Given the description of an element on the screen output the (x, y) to click on. 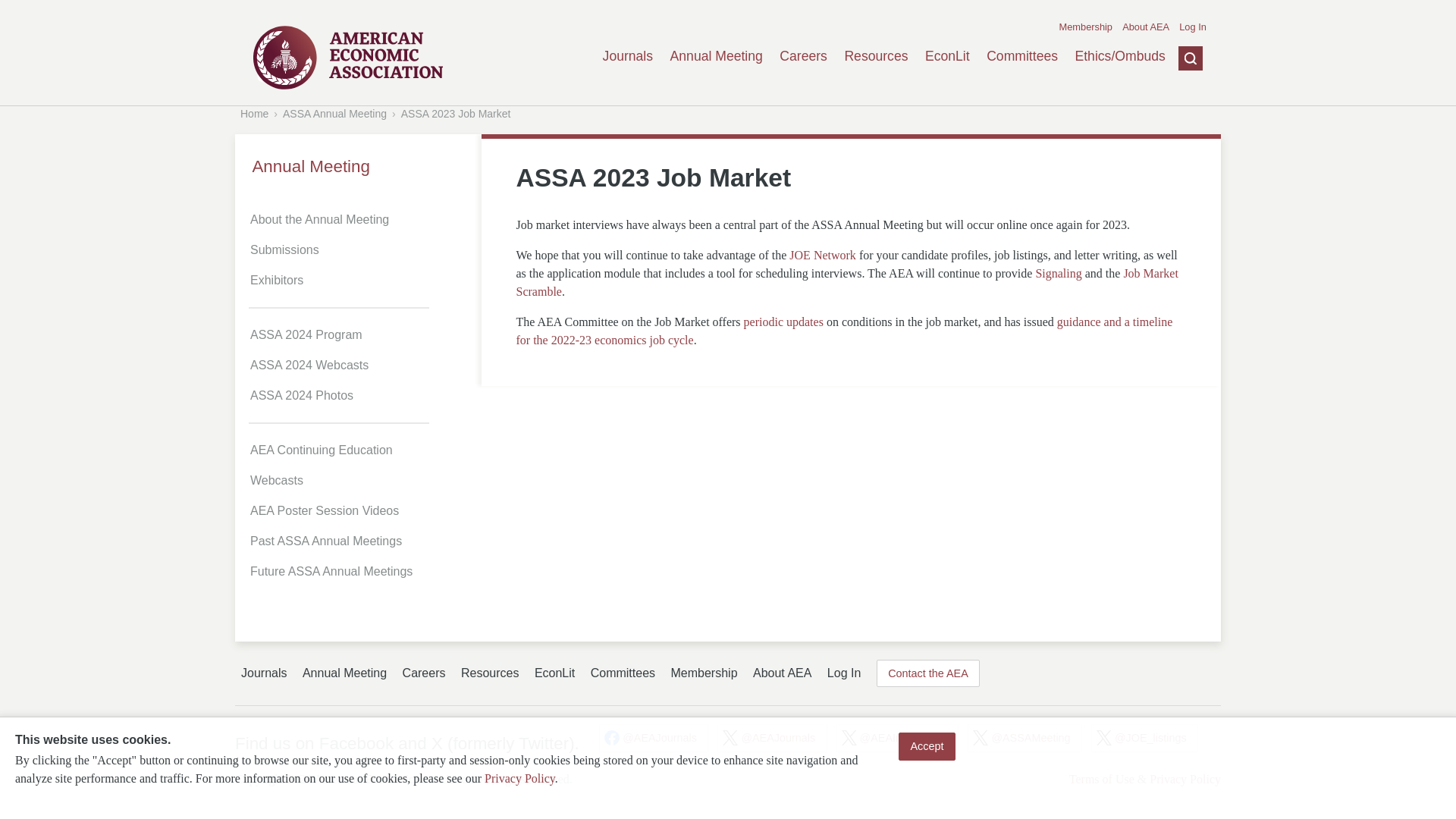
Journals (627, 55)
ASSA 2024 Program (361, 335)
Annual Meeting (357, 166)
periodic updates (784, 321)
Resources (875, 55)
Annual Meeting (715, 55)
ASSA 2023 Job Market (456, 113)
Careers (424, 672)
Membership (1085, 26)
Submissions (361, 250)
Privacy Policy (519, 778)
Committees (1022, 55)
About AEA (1145, 26)
JOE Network (822, 254)
ASSA 2024 Webcasts (361, 365)
